Given the description of an element on the screen output the (x, y) to click on. 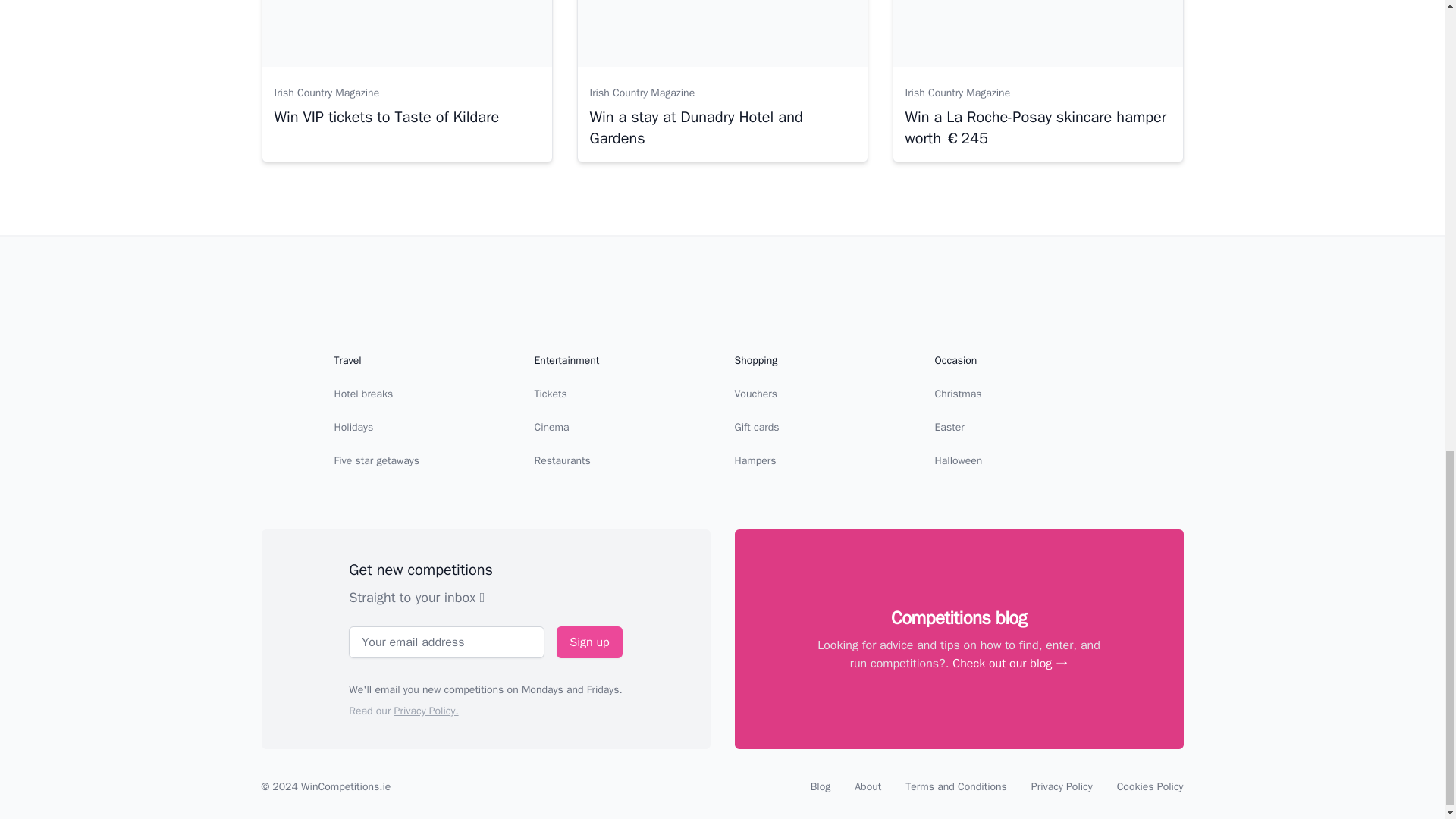
Cookies Policy (1149, 786)
Hampers (754, 460)
Privacy Policy. (426, 710)
Blog (820, 786)
About (867, 786)
Halloween (957, 460)
Sign up (588, 642)
Hotel breaks (363, 393)
Terms and Conditions (956, 786)
Gift cards (755, 427)
Tickets (550, 393)
Vouchers (754, 393)
Five star getaways (376, 460)
Easter (948, 427)
Christmas (957, 393)
